Given the description of an element on the screen output the (x, y) to click on. 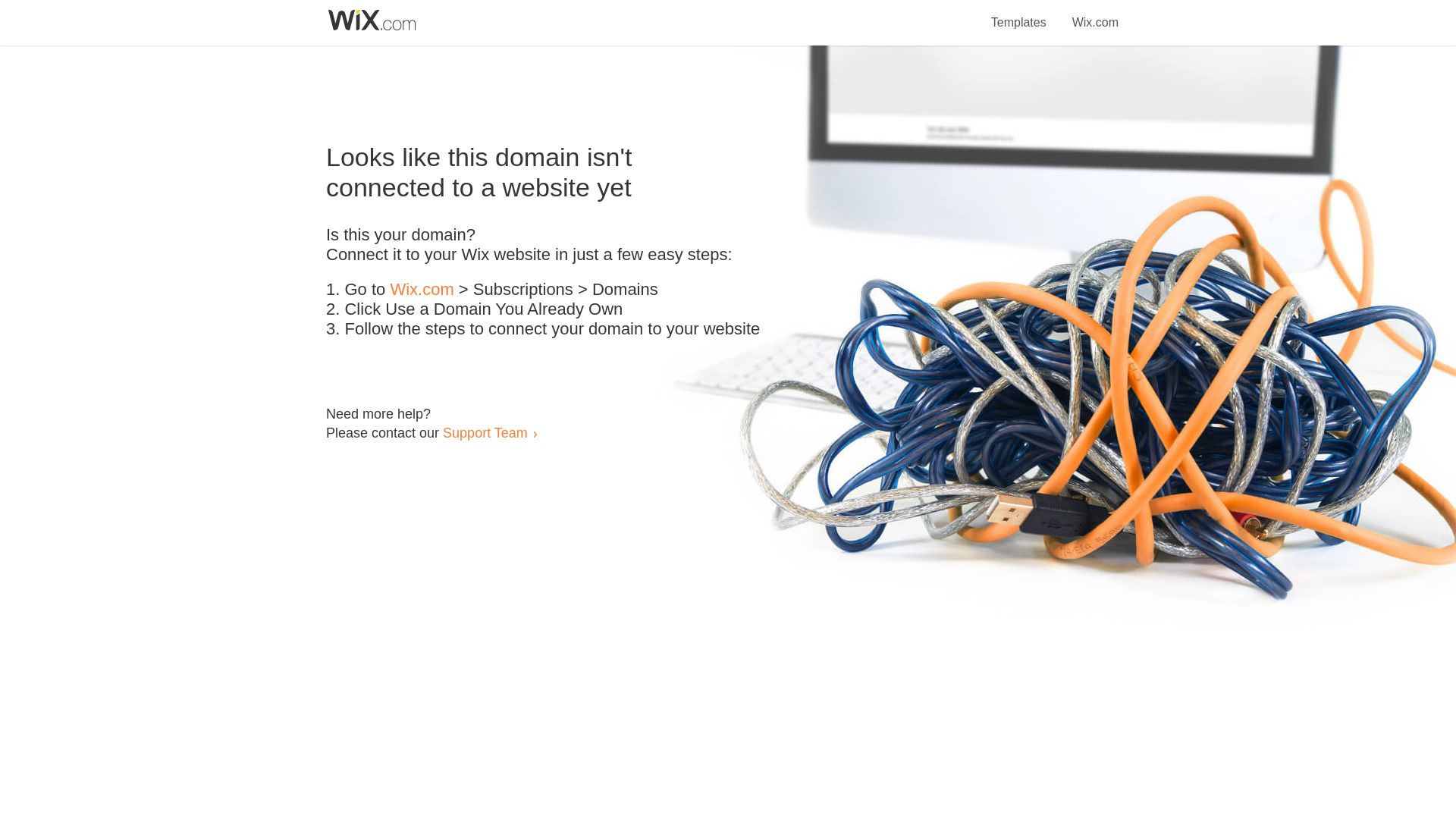
Templates (1018, 14)
Support Team (484, 432)
Wix.com (1095, 14)
Wix.com (421, 289)
